Given the description of an element on the screen output the (x, y) to click on. 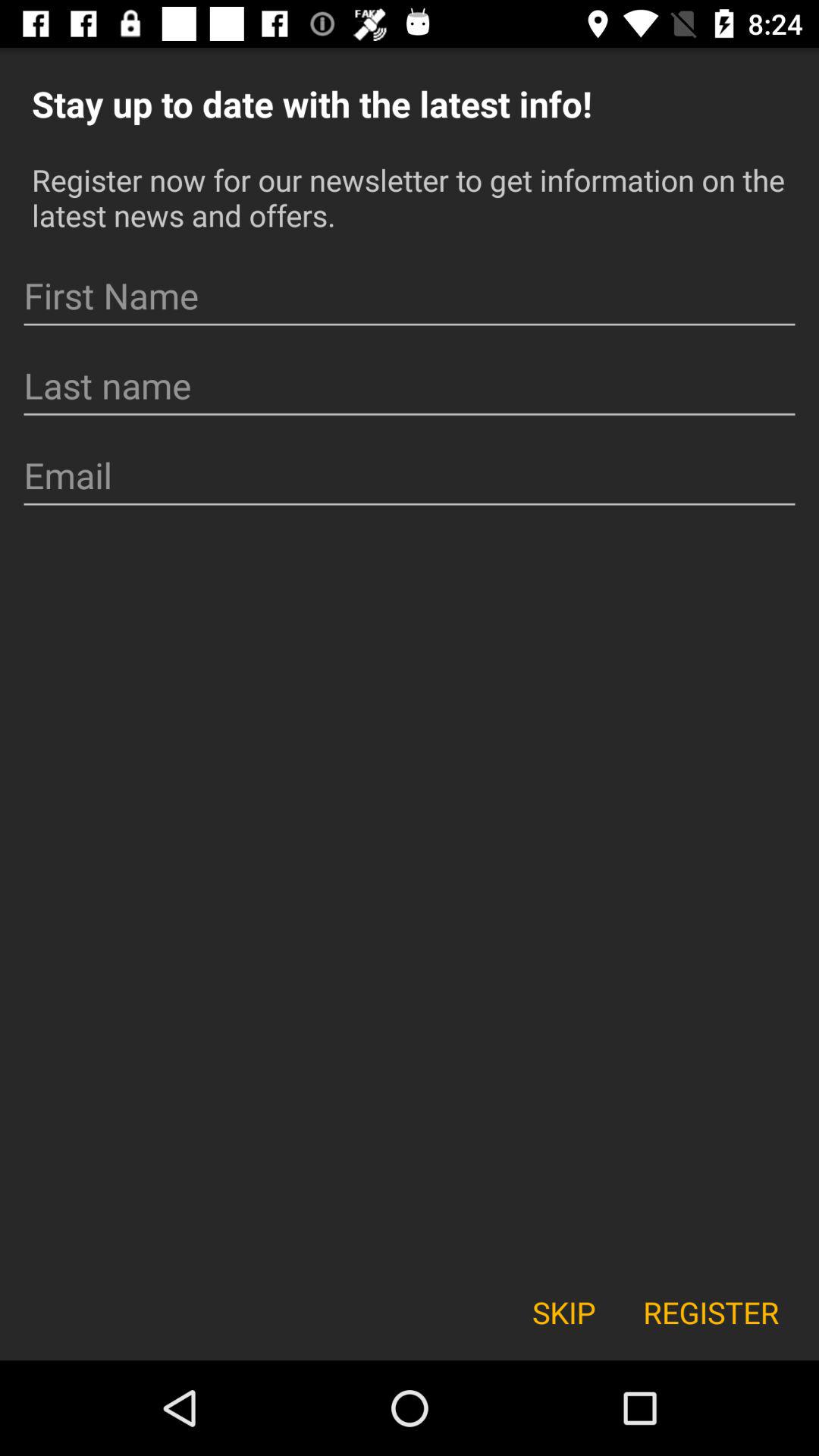
turn on skip icon (563, 1312)
